Given the description of an element on the screen output the (x, y) to click on. 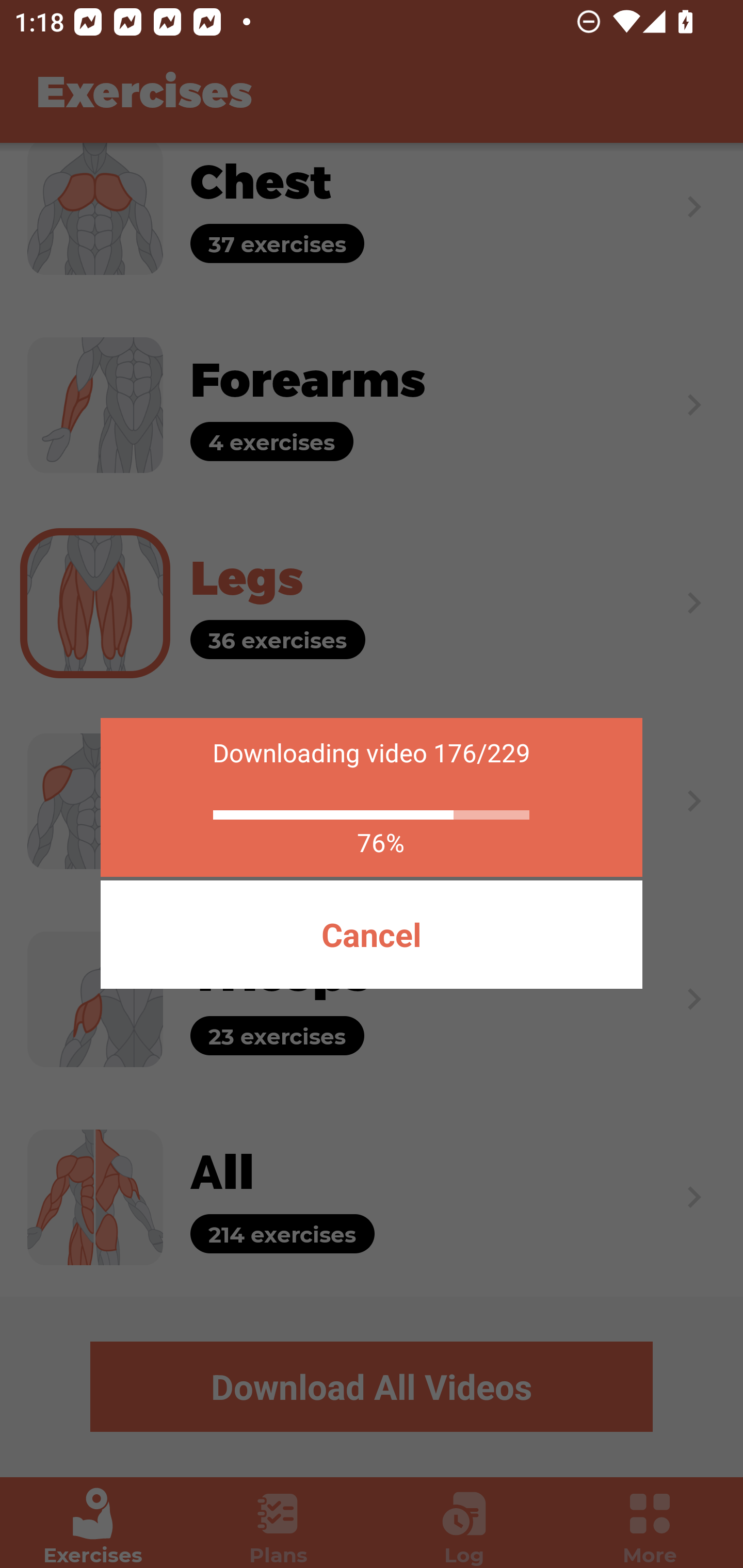
Cancel (371, 935)
